Given the description of an element on the screen output the (x, y) to click on. 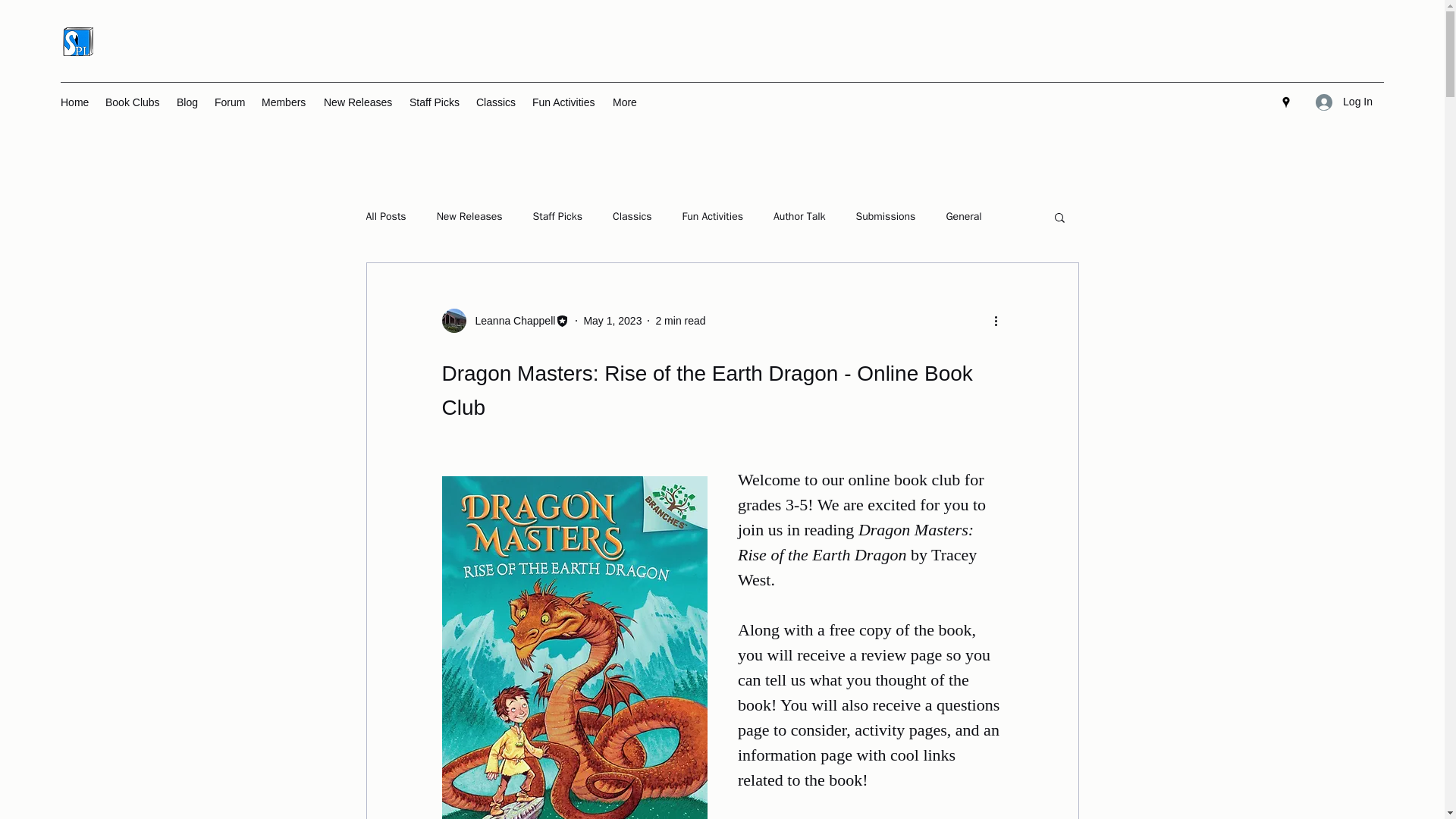
Log In (1343, 101)
Staff Picks (557, 216)
Submissions (885, 216)
New Releases (469, 216)
Staff Picks (434, 101)
Members (284, 101)
May 1, 2023 (612, 319)
Fun Activities (713, 216)
General (962, 216)
Fun Activities (564, 101)
Blog (187, 101)
Home (74, 101)
Leanna Chappell (505, 320)
2 min read (679, 319)
All Posts (385, 216)
